Given the description of an element on the screen output the (x, y) to click on. 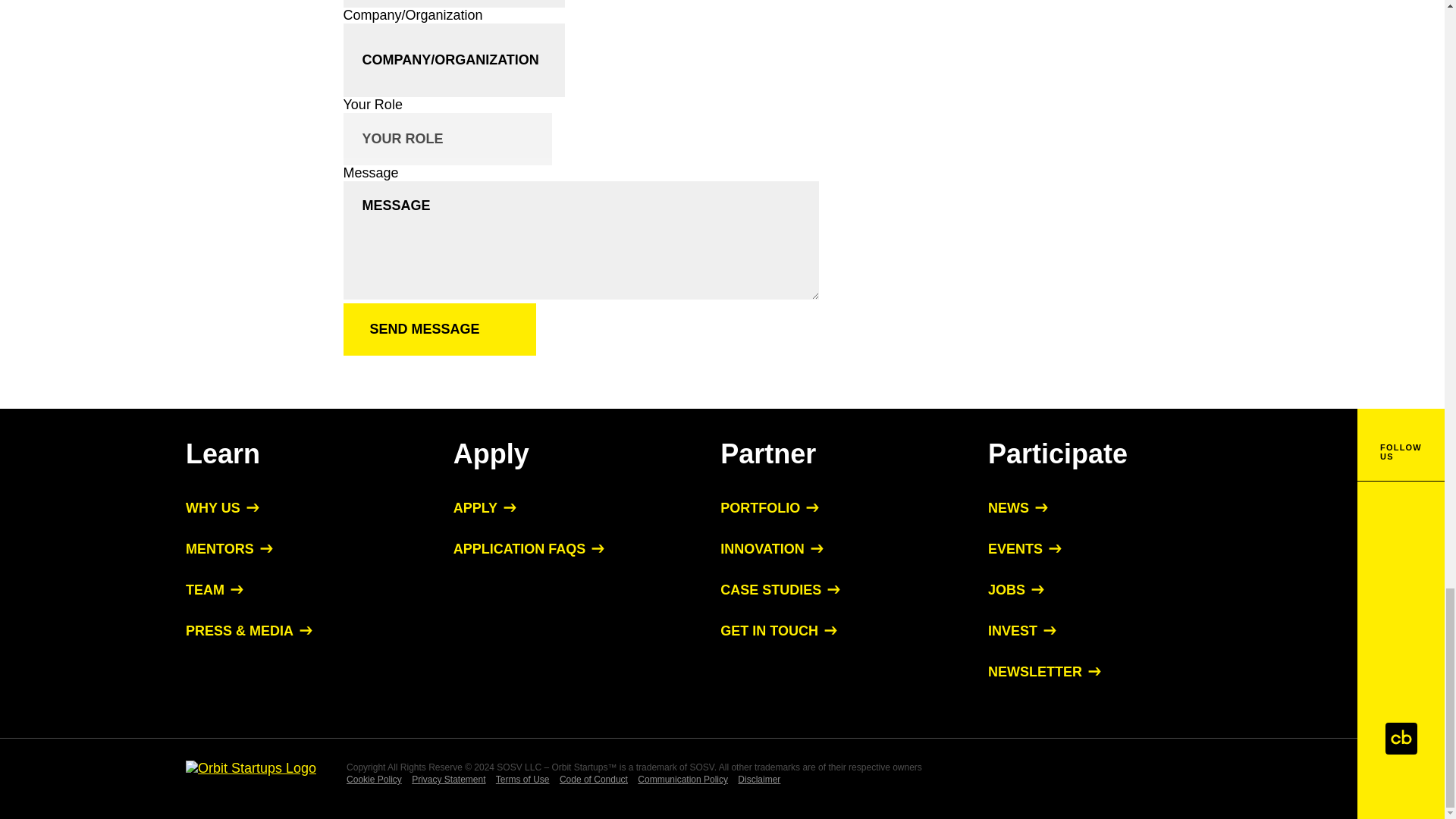
Learn (223, 454)
WHY US (222, 507)
SEND MESSAGE (438, 329)
